Given the description of an element on the screen output the (x, y) to click on. 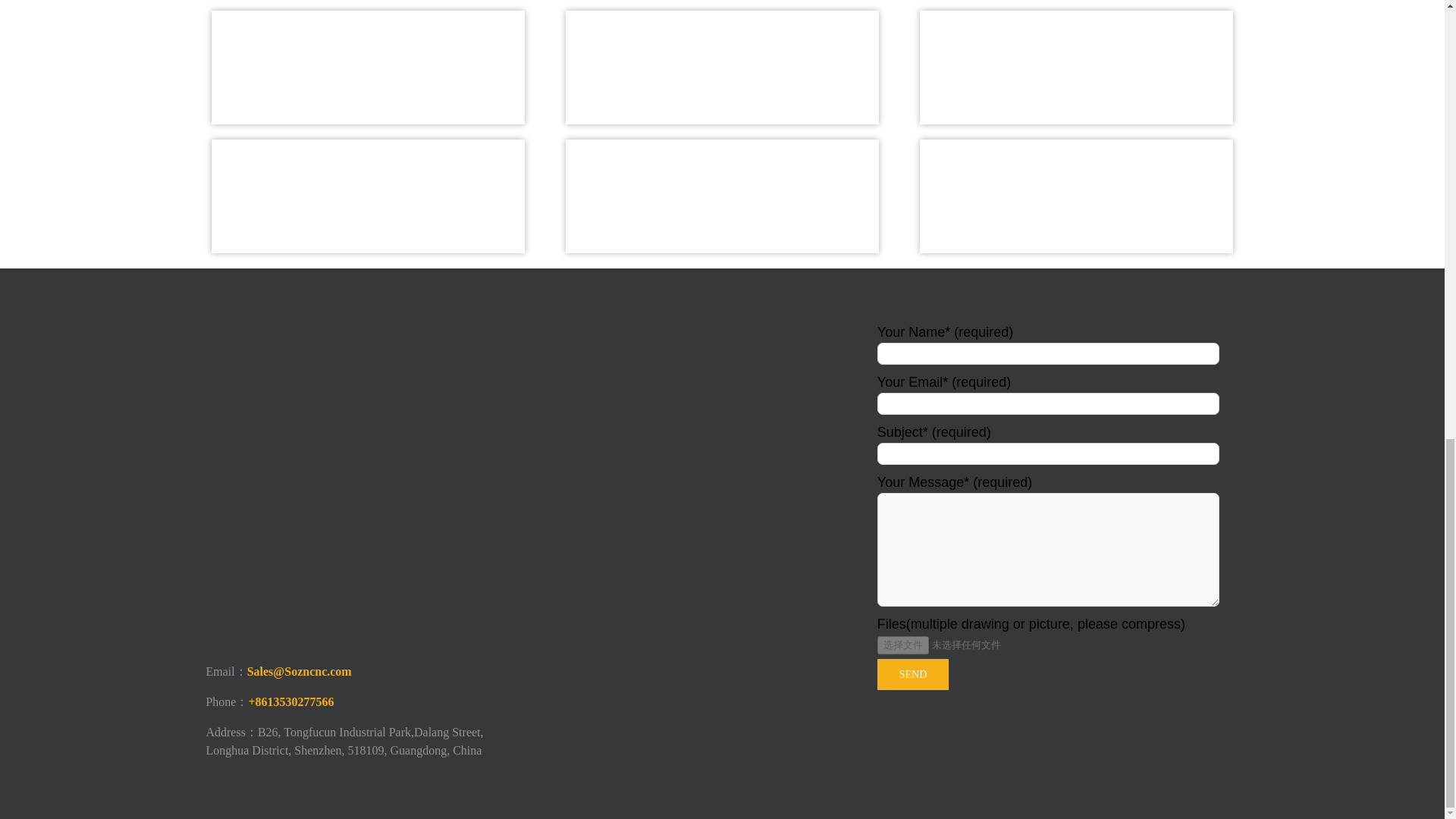
Send (913, 674)
Send (913, 674)
